Given the description of an element on the screen output the (x, y) to click on. 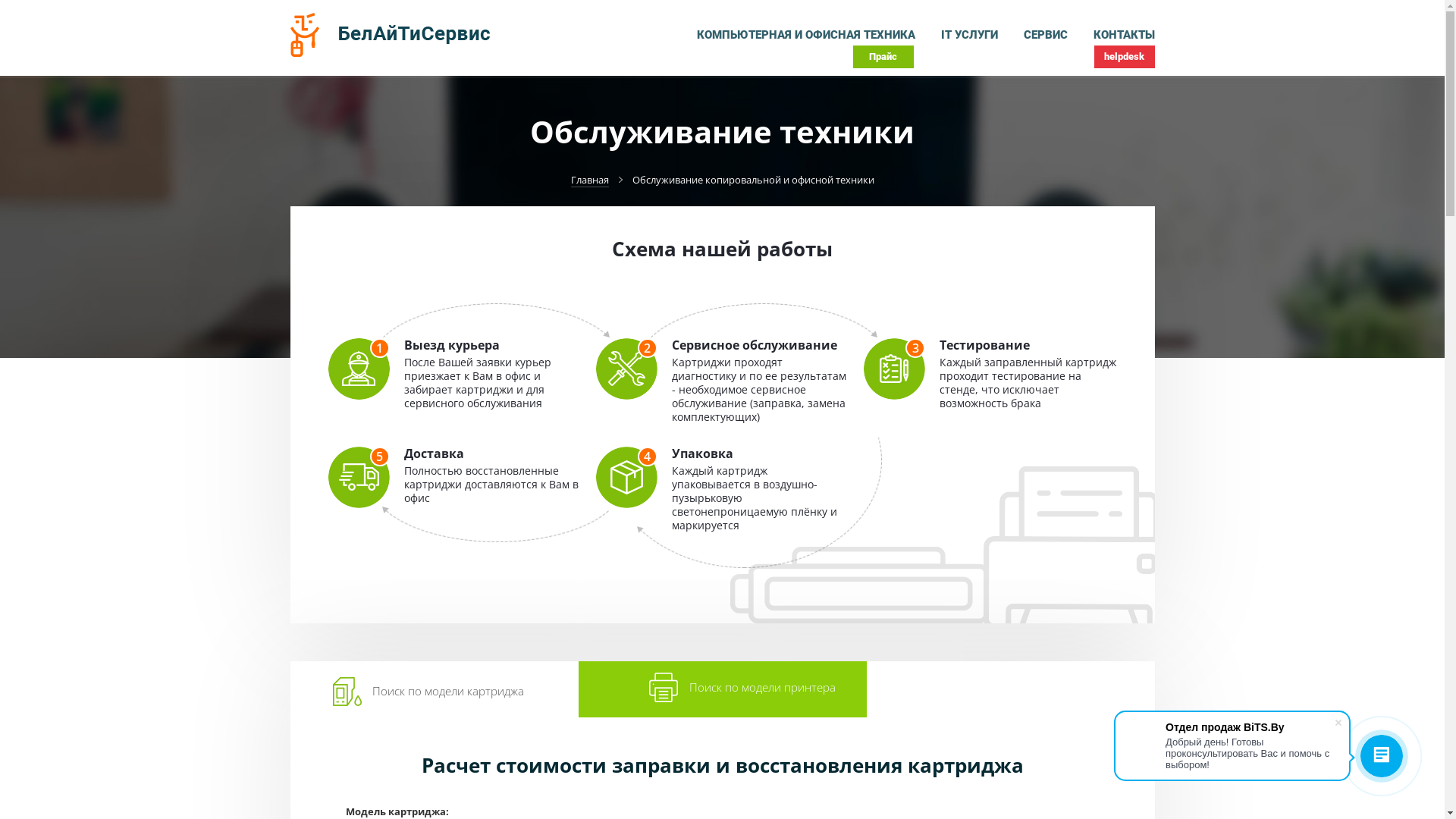
helpdesk Element type: text (1123, 56)
